Given the description of an element on the screen output the (x, y) to click on. 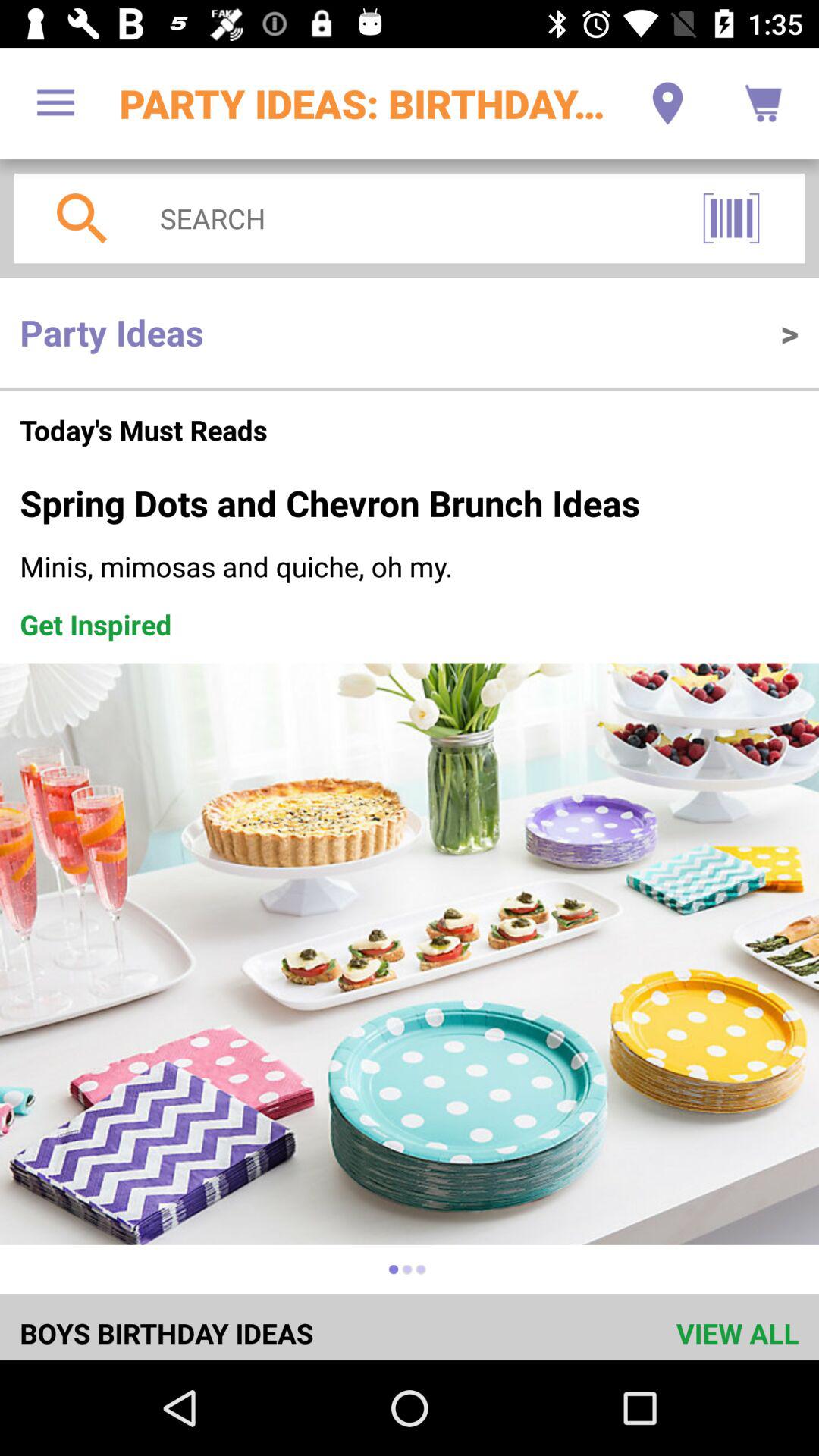
jump until get inspired (95, 624)
